Given the description of an element on the screen output the (x, y) to click on. 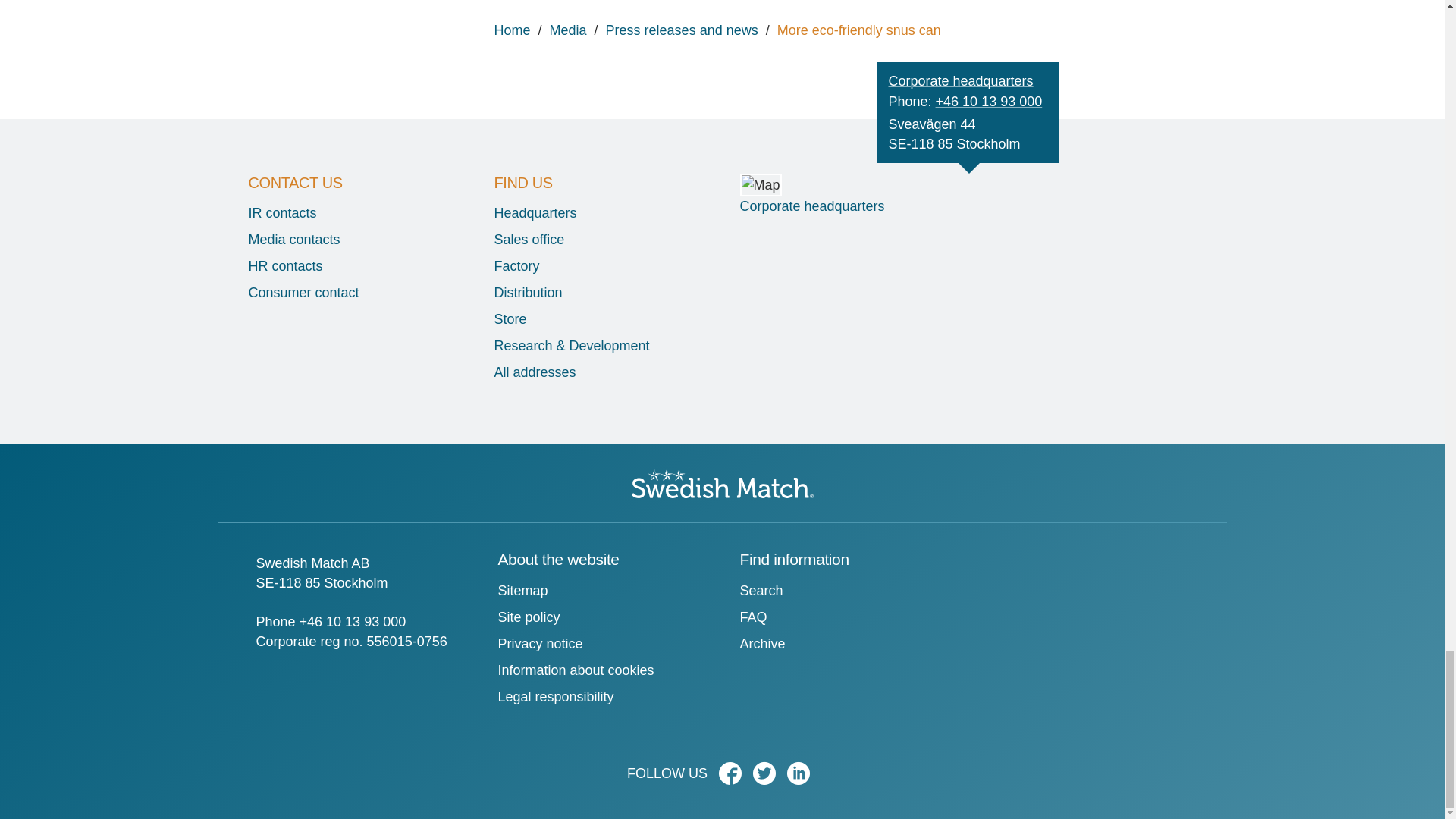
Twitter (767, 778)
facebook (734, 778)
LinkedIn (801, 778)
